Given the description of an element on the screen output the (x, y) to click on. 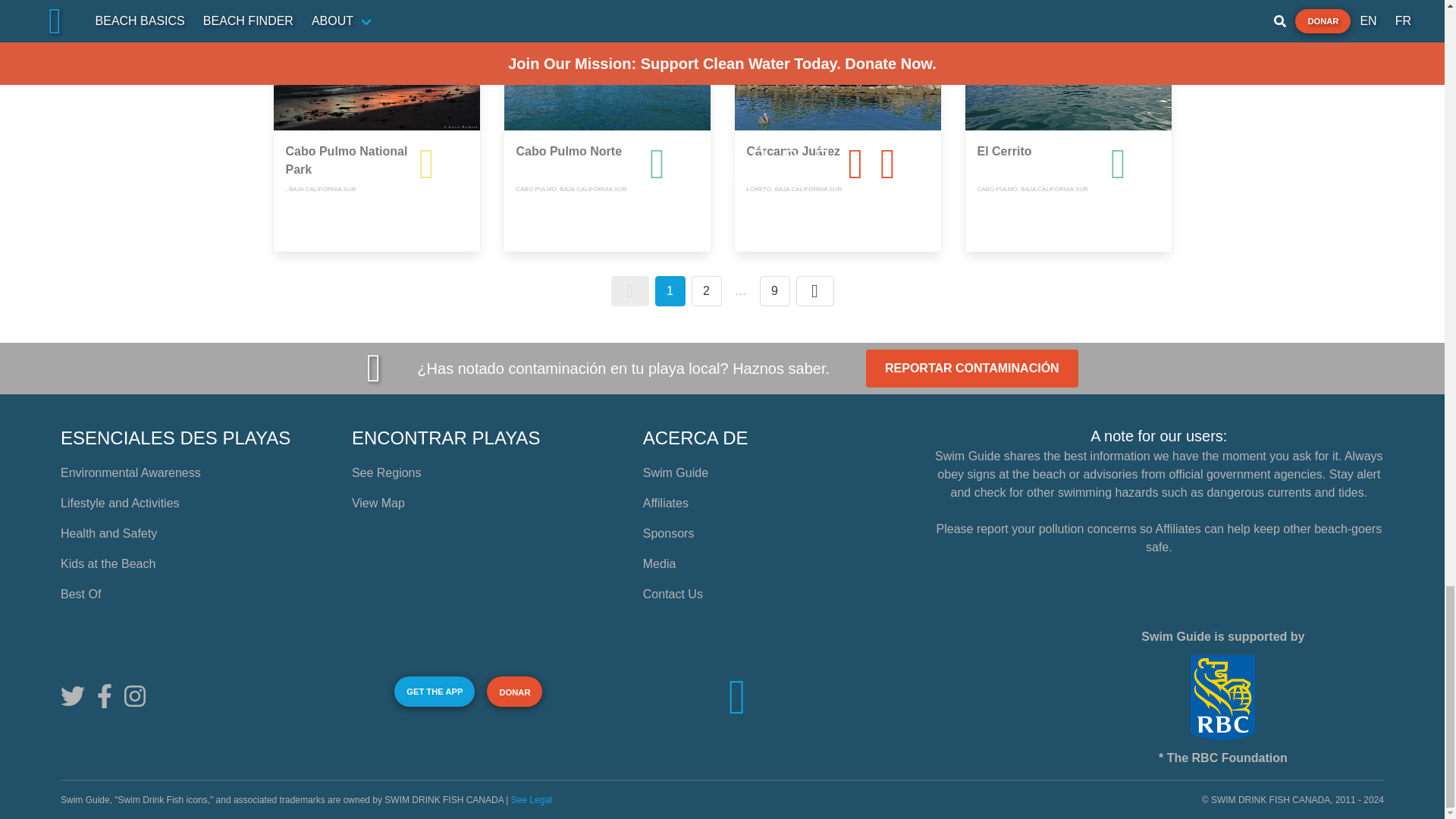
2 (706, 291)
1 (670, 291)
9 (775, 291)
fail (944, 163)
